Given the description of an element on the screen output the (x, y) to click on. 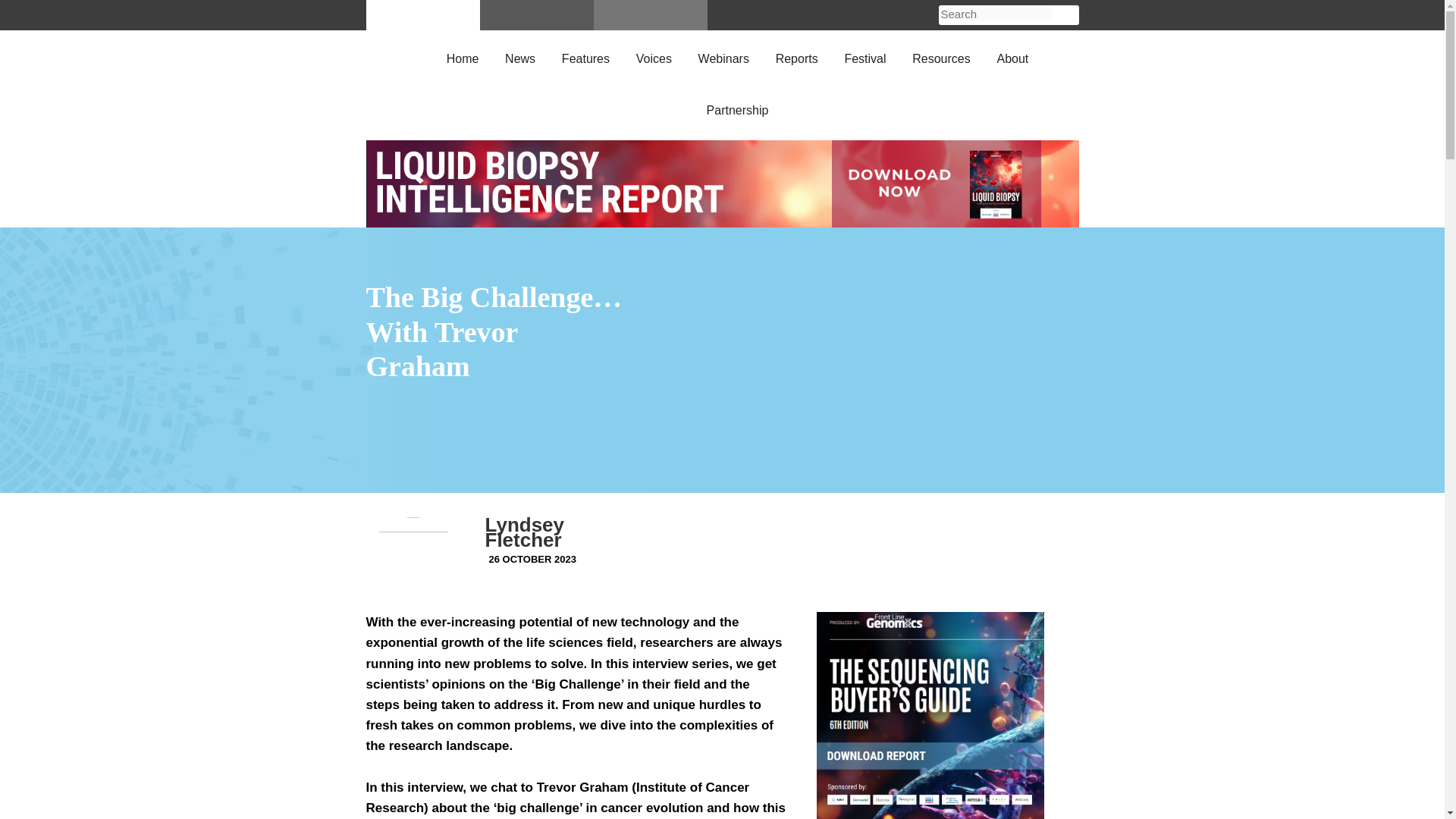
Features (586, 55)
Partnership (737, 107)
Webinars (723, 55)
Resources (940, 55)
